Given the description of an element on the screen output the (x, y) to click on. 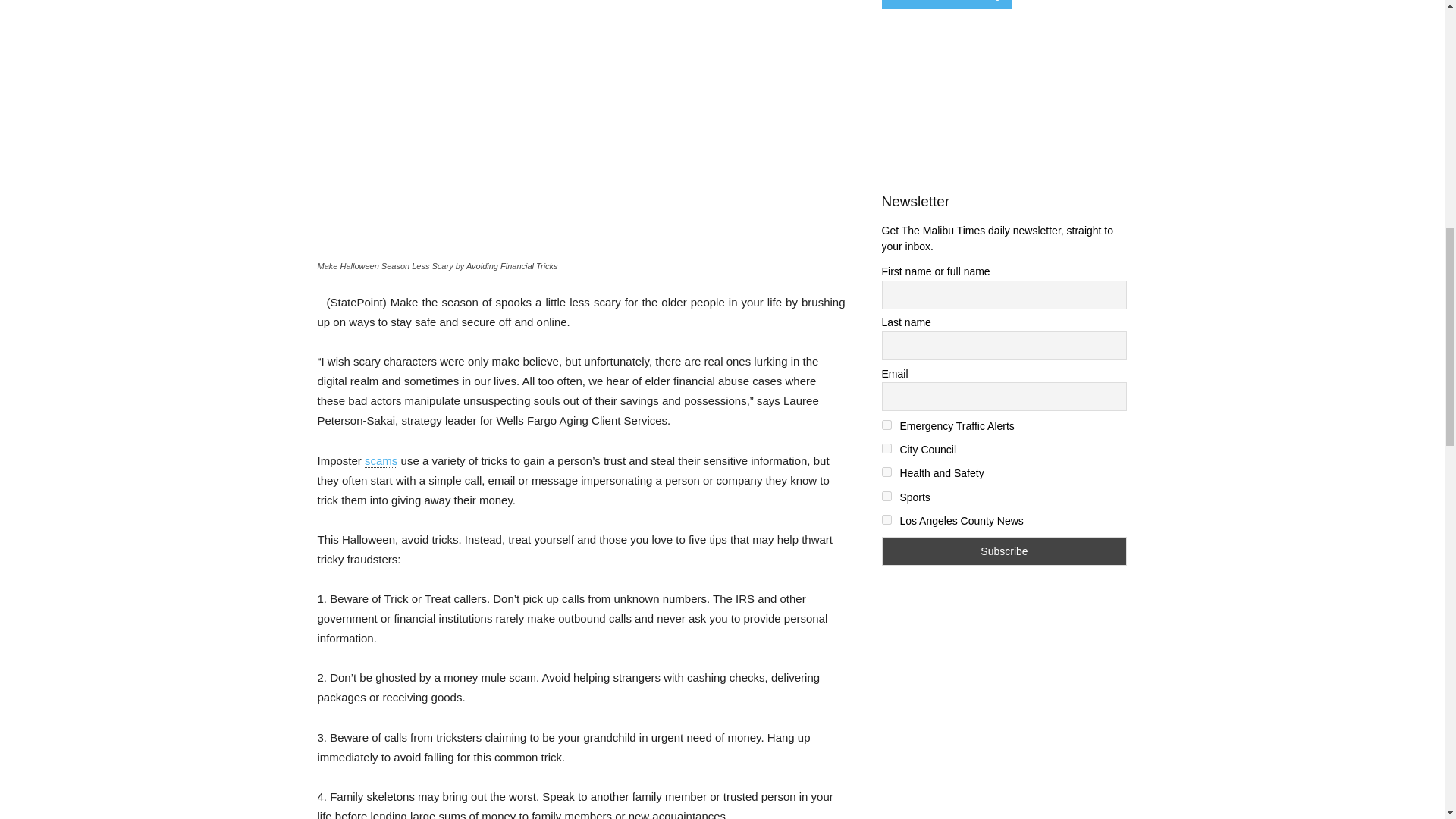
4 (885, 471)
2 (885, 424)
5 (885, 496)
3 (885, 448)
Subscribe (1003, 551)
6 (885, 519)
